Given the description of an element on the screen output the (x, y) to click on. 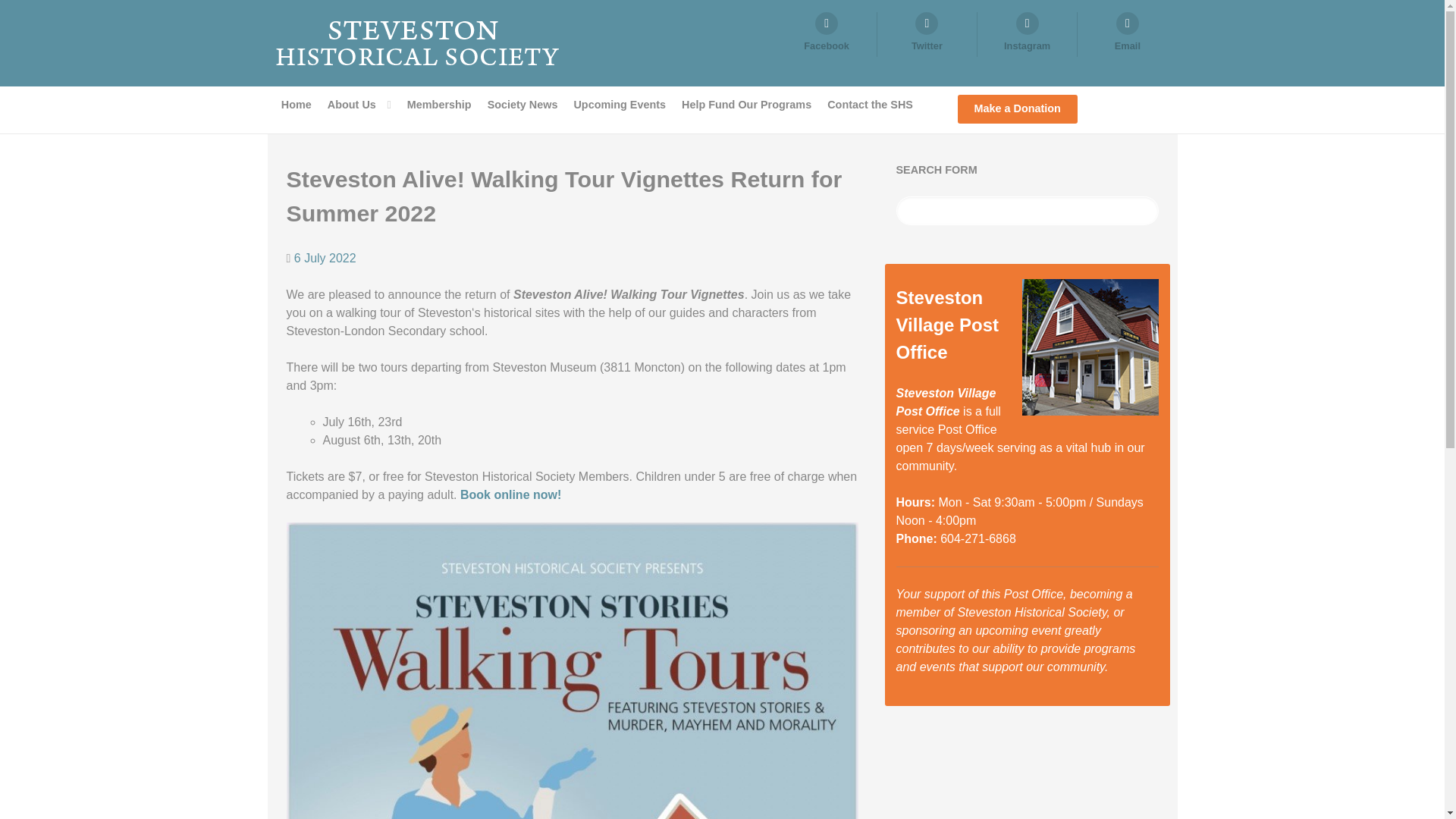
Facebook (826, 34)
Steveston Historical Society (416, 42)
Email (1126, 34)
Facebook (826, 34)
Membership (439, 104)
Upcoming Events (619, 104)
Twitter (926, 34)
Make a Donation (1016, 109)
Help Fund Our Programs (746, 104)
